Given the description of an element on the screen output the (x, y) to click on. 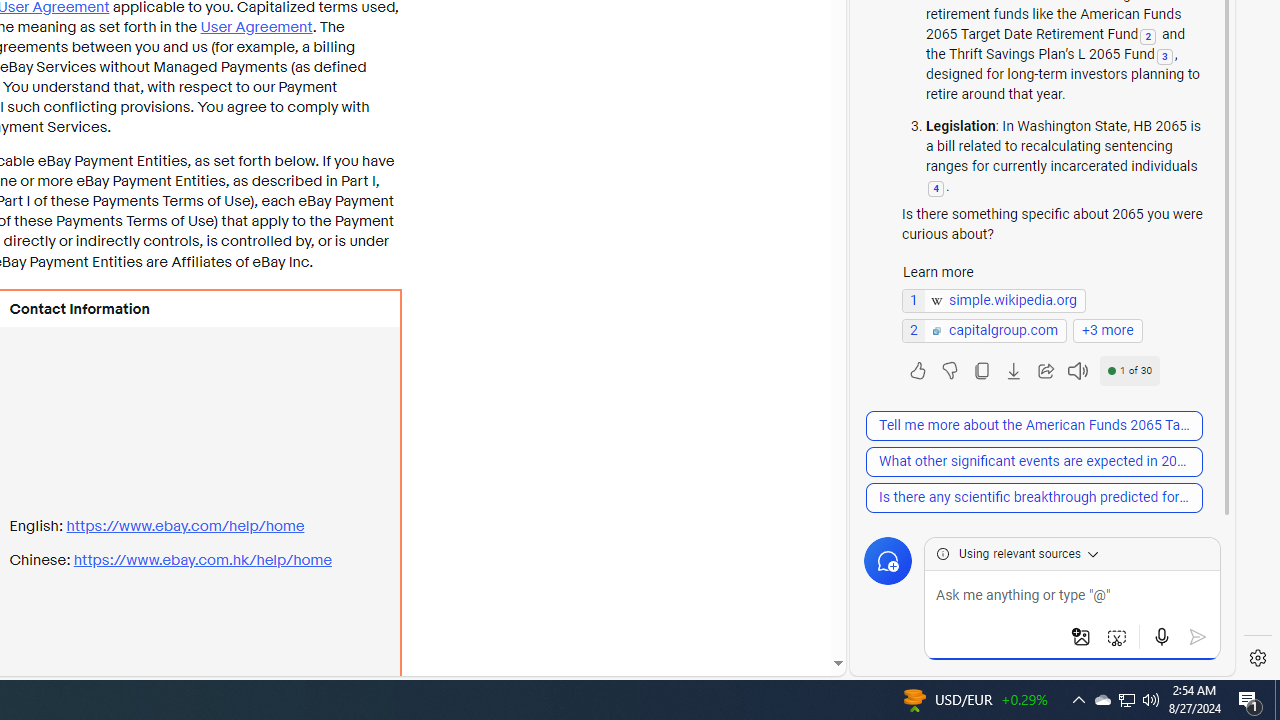
https://www.ebay.com/ help/home (185, 525)
User Agreement (256, 26)
https://www.ebay.com.hk/ help/home (201, 560)
